Given the description of an element on the screen output the (x, y) to click on. 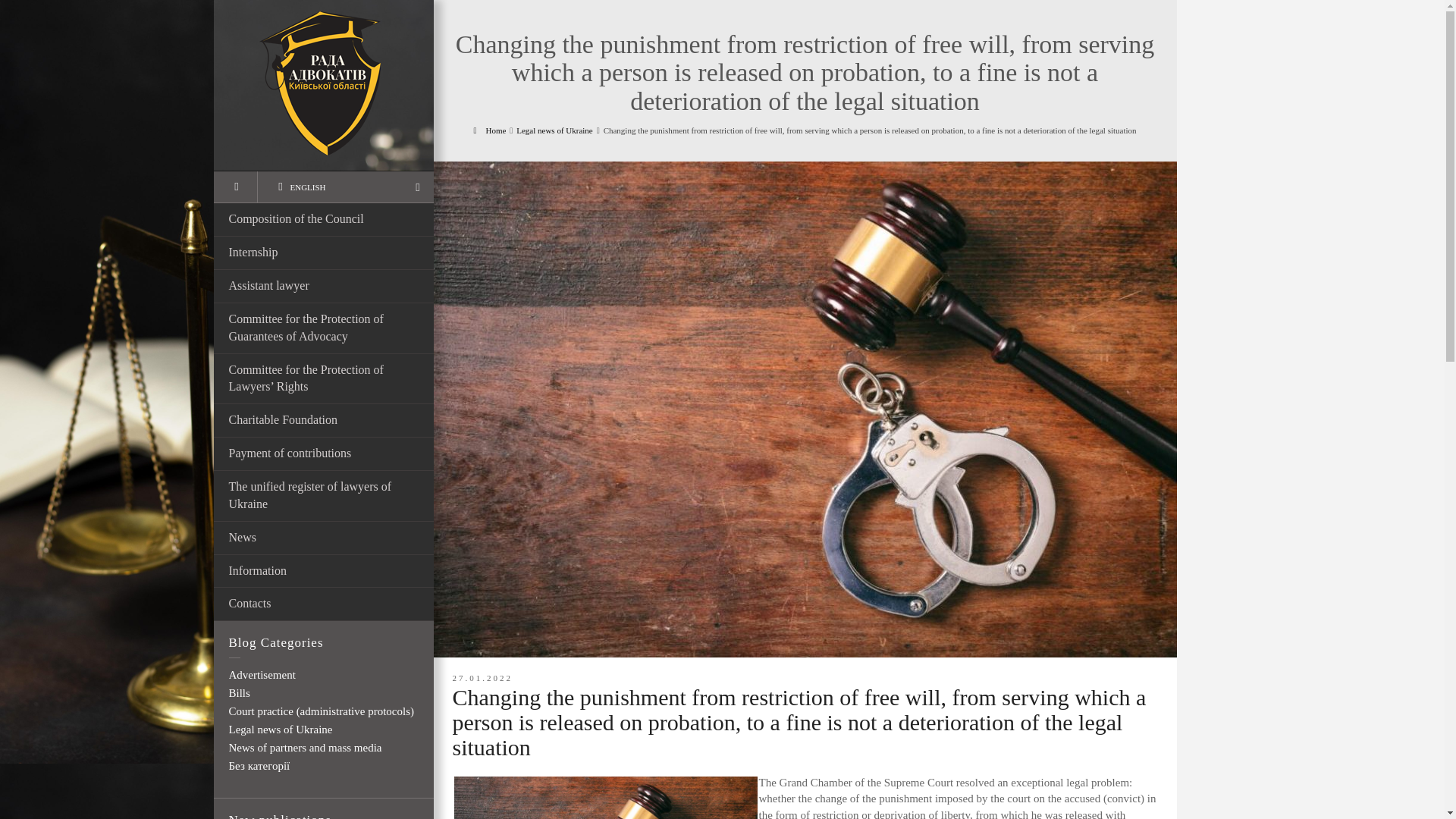
Legal news of Ukraine (554, 130)
Charitable Foundation (323, 420)
Search (235, 186)
Advertisement (261, 674)
Information (323, 571)
News (323, 538)
The unified register of lawyers of Ukraine (323, 495)
News of partners and mass media (304, 747)
Internship (323, 253)
Home (489, 130)
